Given the description of an element on the screen output the (x, y) to click on. 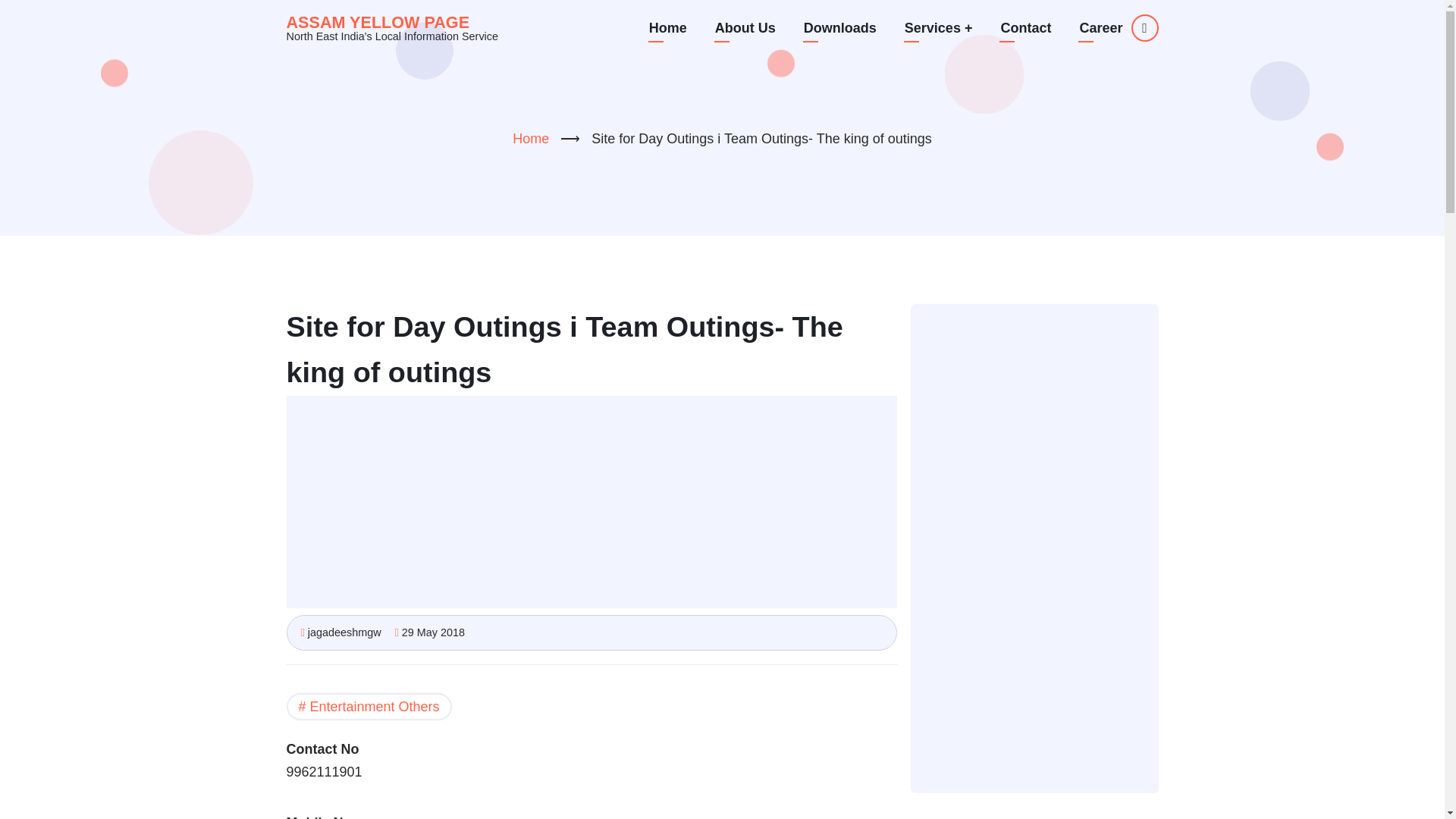
About Us (745, 27)
Entertainment Others (368, 706)
Home (378, 22)
Contact (1024, 27)
Downloads (840, 27)
Home (530, 138)
ASSAM YELLOW PAGE (378, 22)
Home (667, 27)
Career (1100, 27)
Home (667, 27)
